Given the description of an element on the screen output the (x, y) to click on. 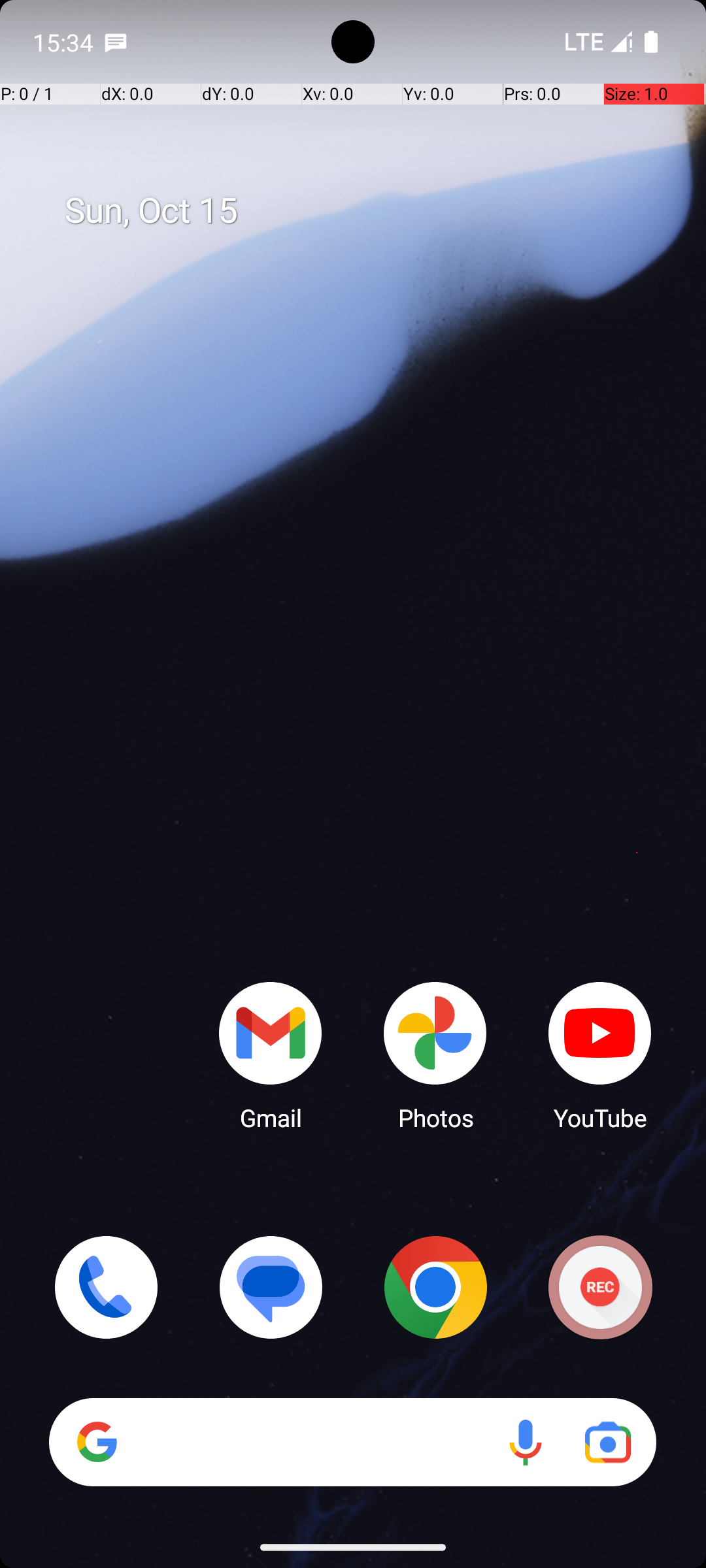
SMS Messenger notification: Theodore Chen Element type: android.widget.ImageView (115, 41)
